Given the description of an element on the screen output the (x, y) to click on. 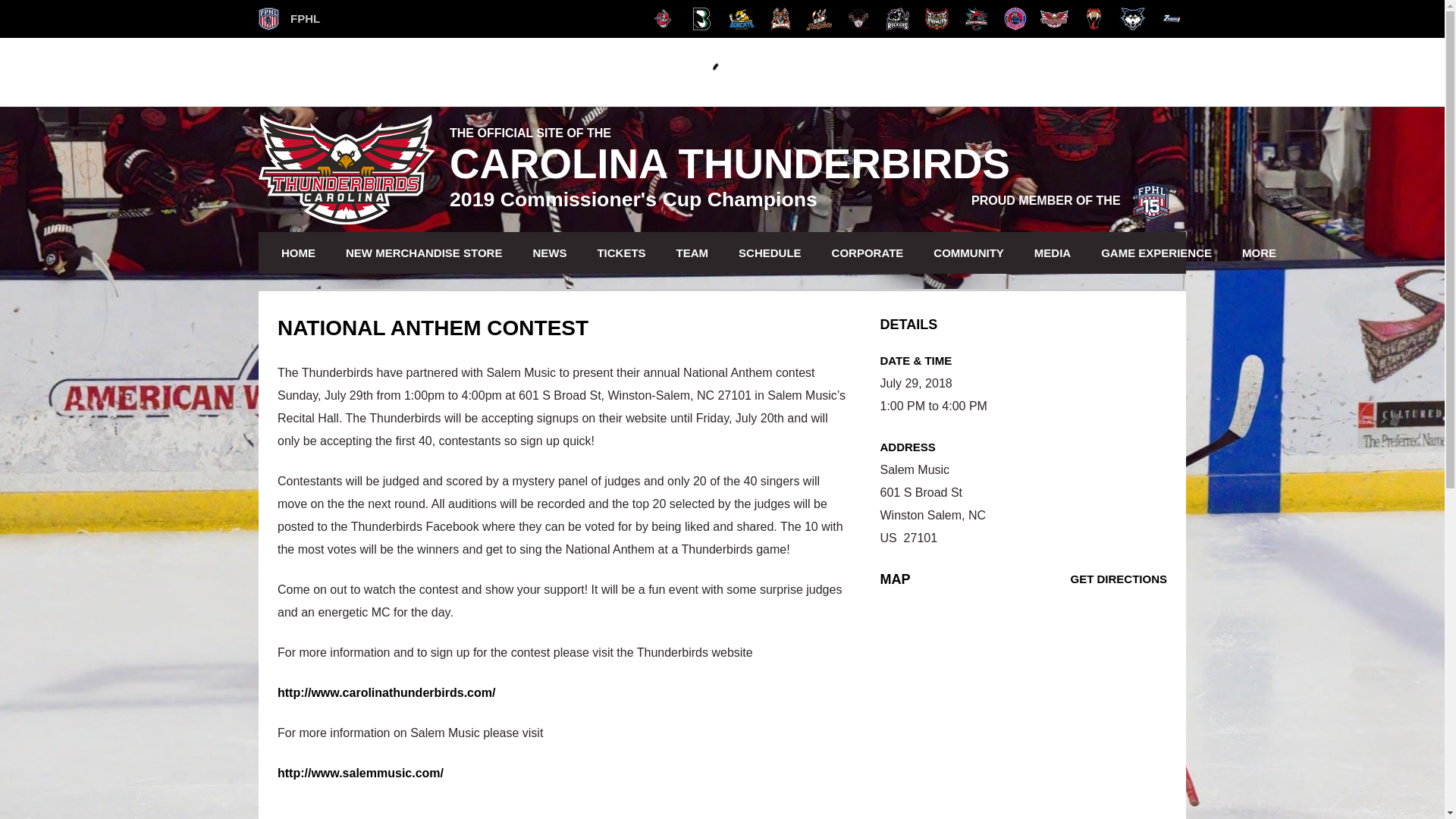
HOME (297, 252)
NEW MERCHANDISE STORE (423, 252)
PROUD MEMBER OF THE (1070, 200)
NEWS (549, 252)
FPHL (289, 18)
